Given the description of an element on the screen output the (x, y) to click on. 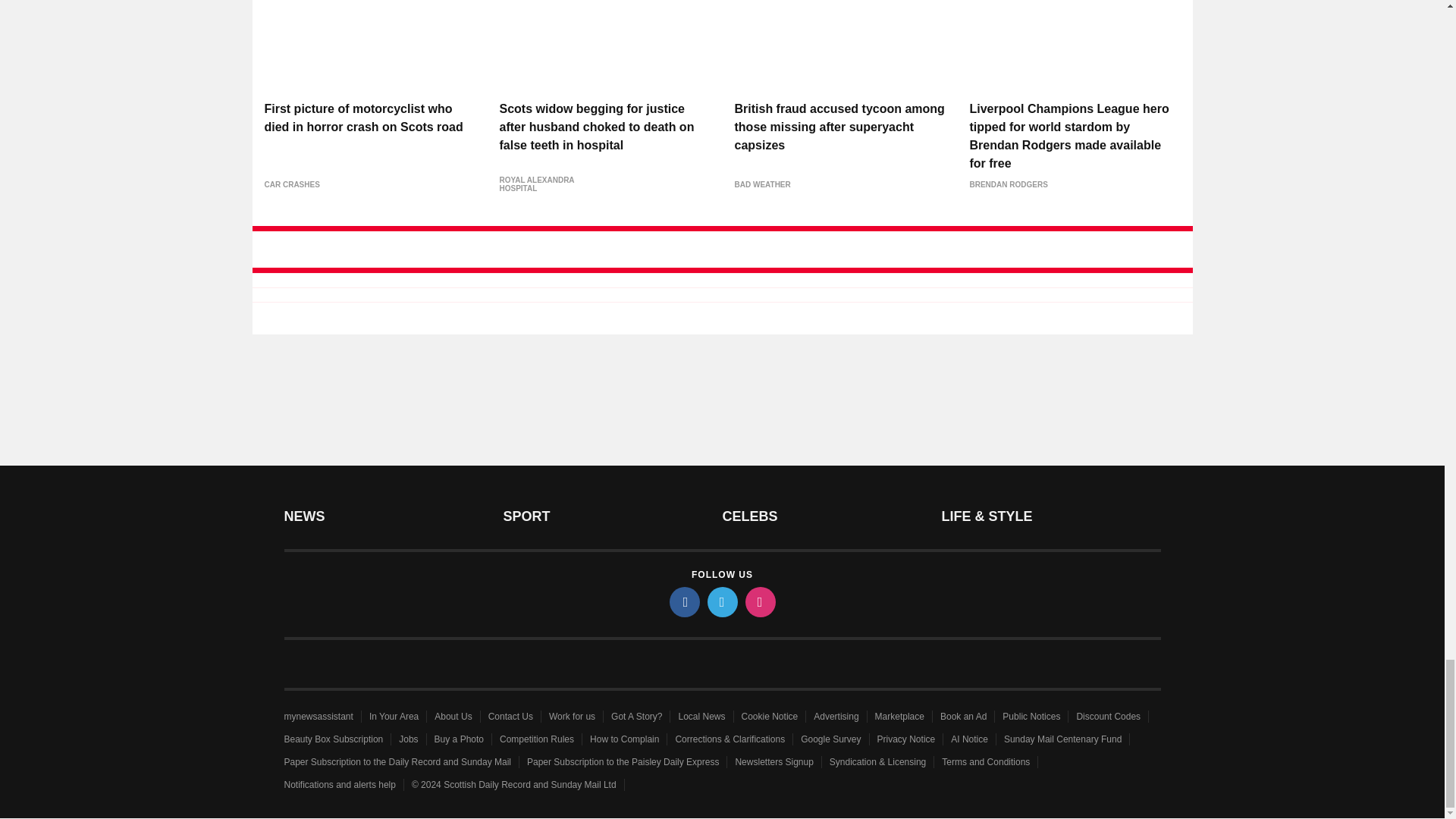
instagram (759, 602)
facebook (683, 602)
twitter (721, 602)
